Given the description of an element on the screen output the (x, y) to click on. 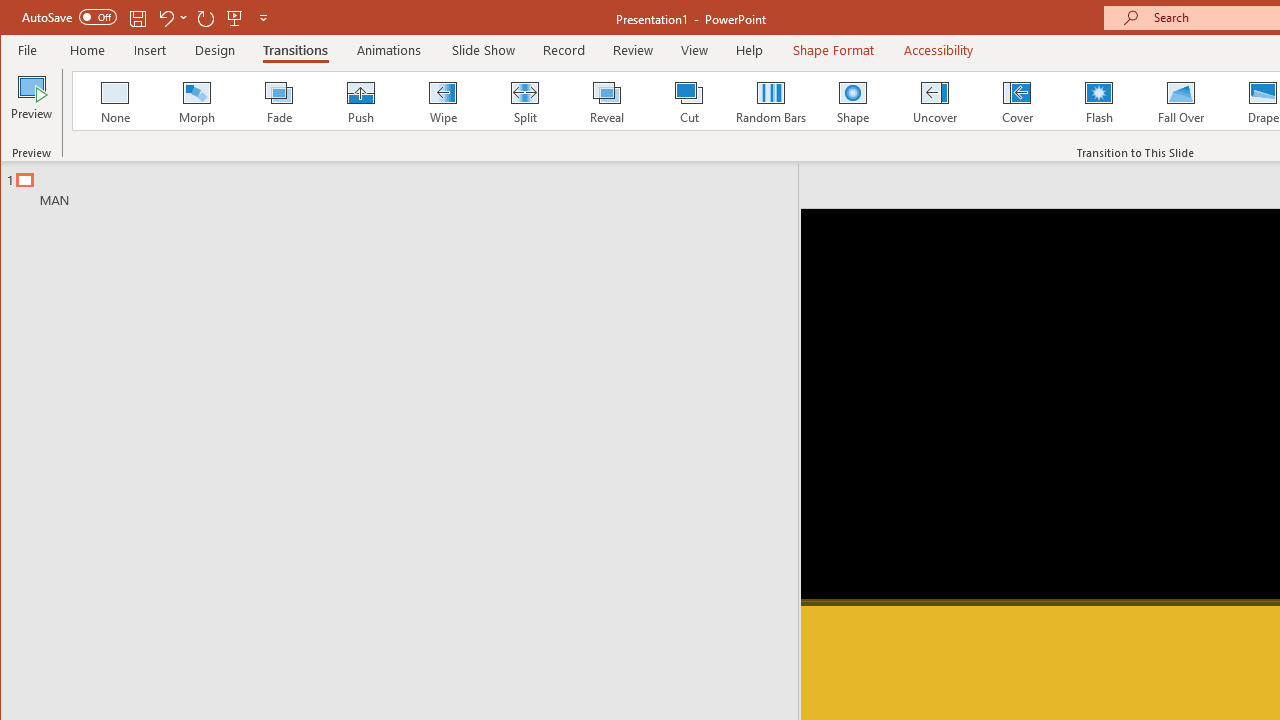
More Options (183, 17)
Reveal (606, 100)
View (694, 50)
Random Bars (770, 100)
Animations (388, 50)
Accessibility (938, 50)
Flash (1099, 100)
File Tab (28, 49)
Quick Access Toolbar (146, 17)
